Given the description of an element on the screen output the (x, y) to click on. 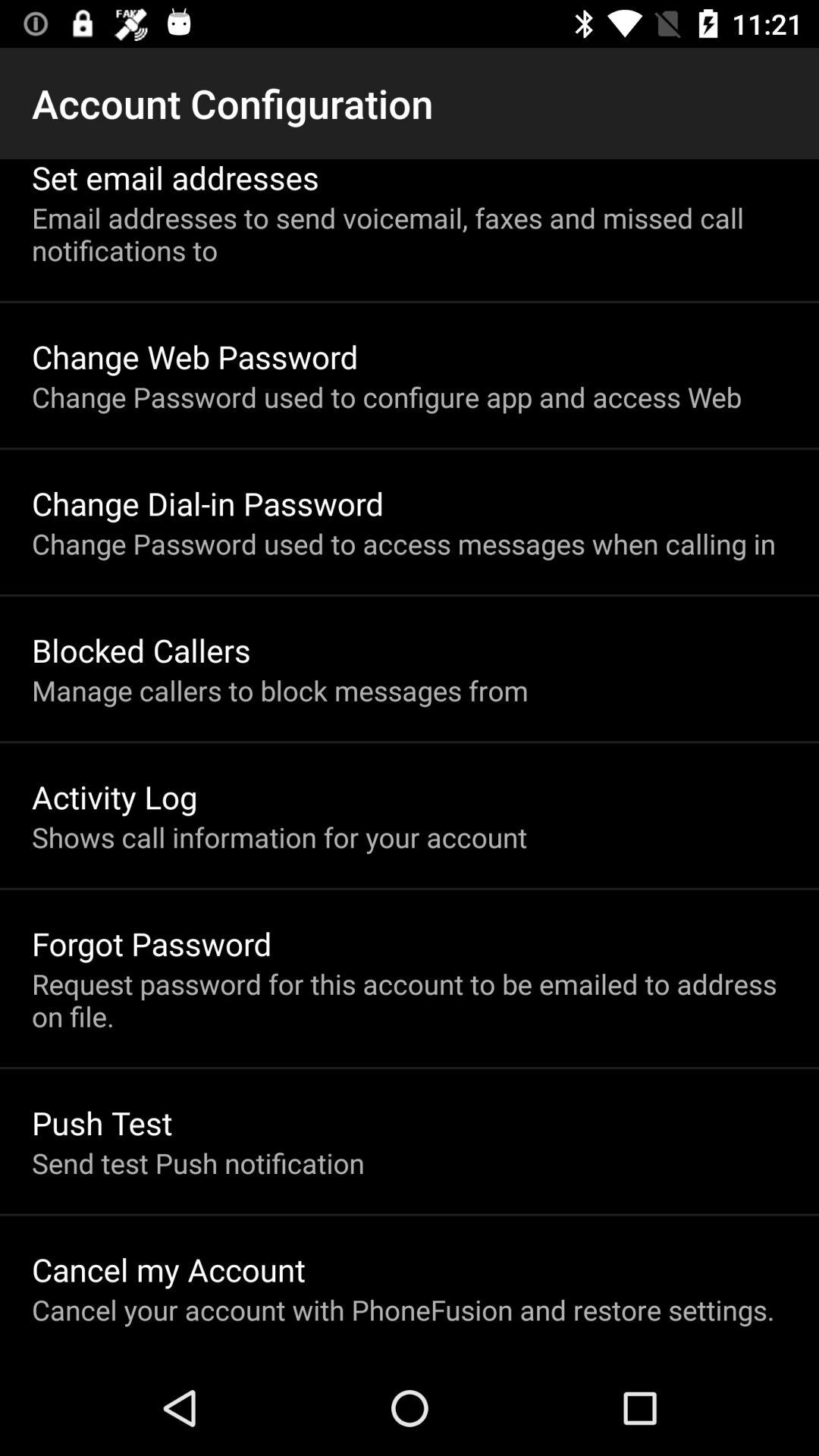
jump to manage callers to app (279, 690)
